Given the description of an element on the screen output the (x, y) to click on. 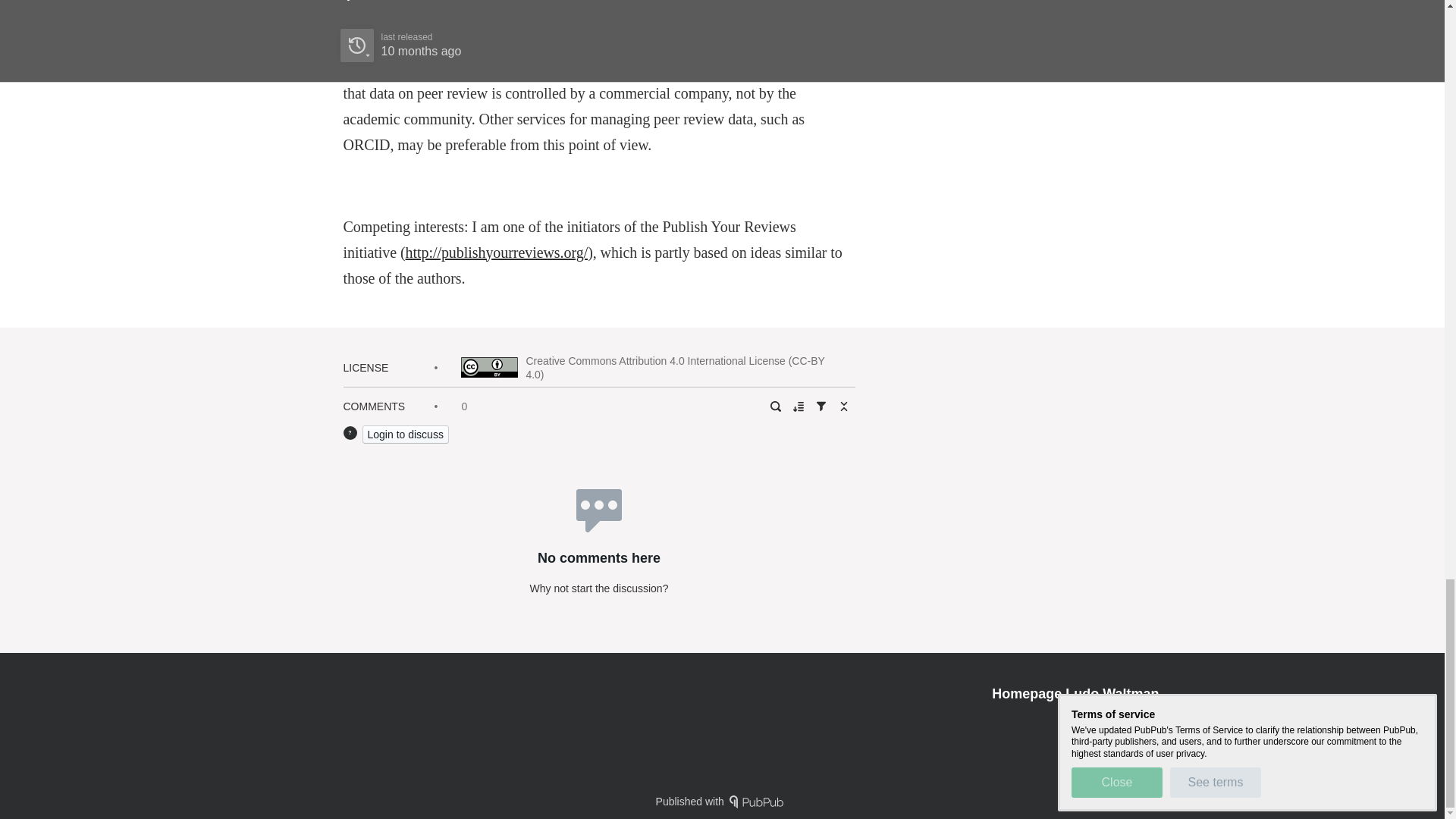
Login to discuss (405, 434)
RSS (1104, 720)
Homepage Ludo Waltman (1074, 693)
Published with (722, 801)
Legal (1145, 720)
